Given the description of an element on the screen output the (x, y) to click on. 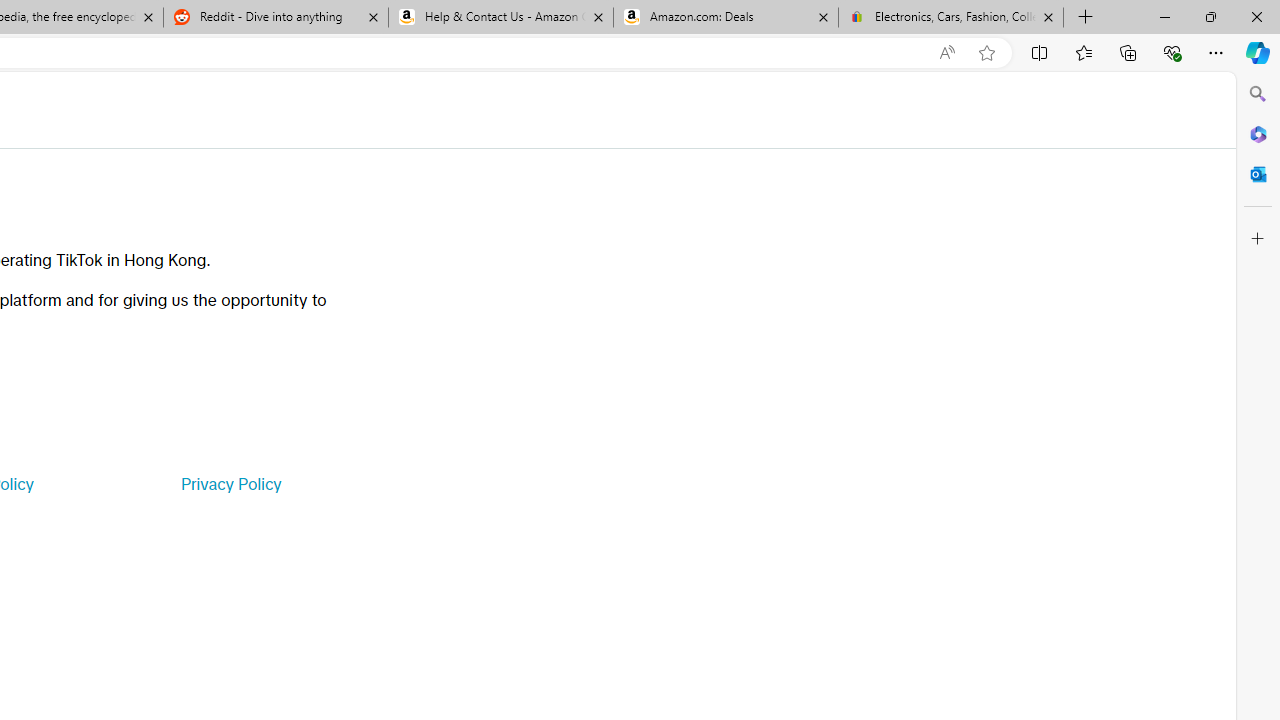
Help & Contact Us - Amazon Customer Service (501, 17)
